Given the description of an element on the screen output the (x, y) to click on. 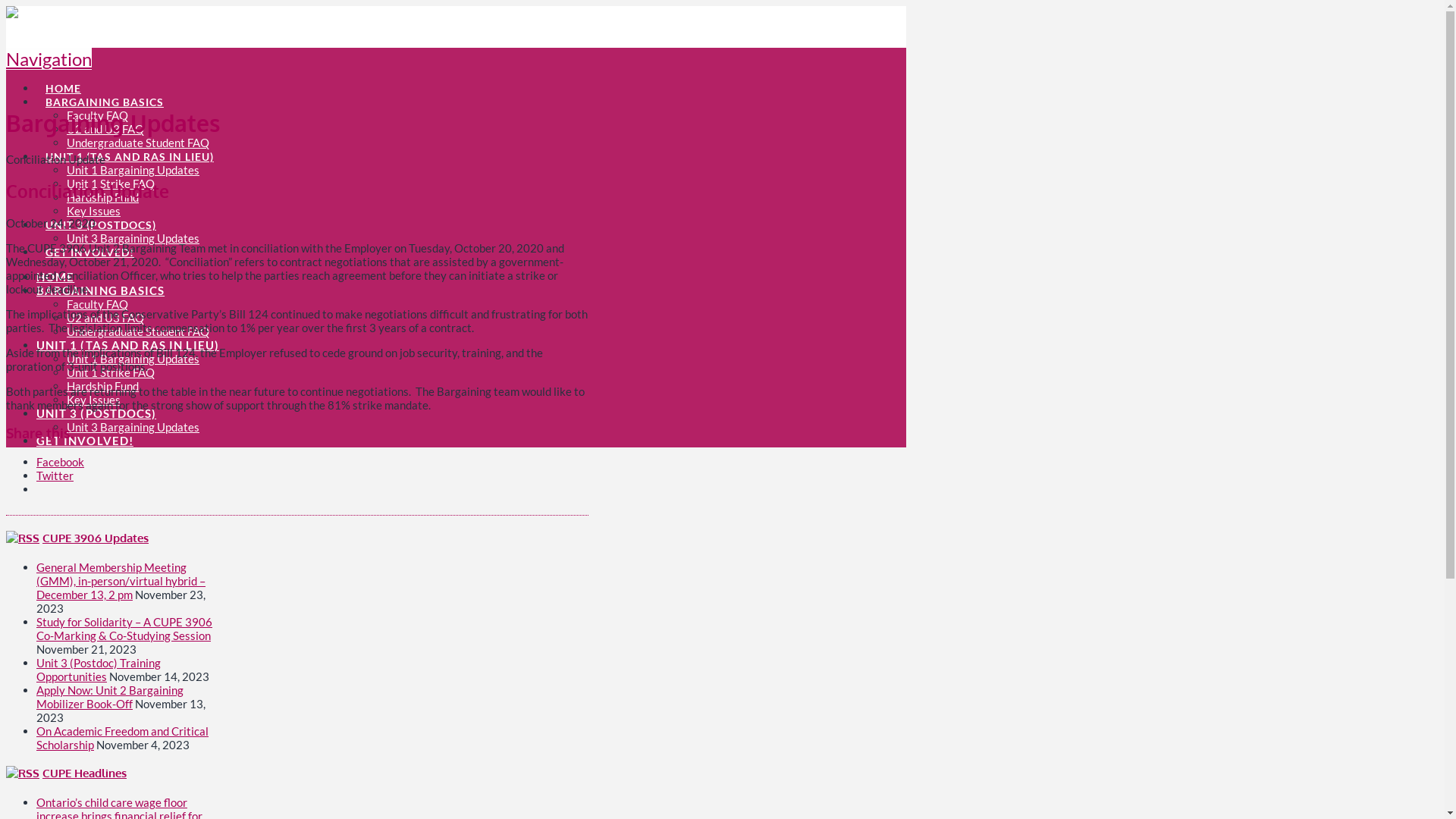
On Academic Freedom and Critical Scholarship Element type: text (122, 736)
Unit 1 Bargaining Updates Element type: text (132, 169)
CUPE 3906 Updates Element type: text (95, 537)
Twitter Element type: text (54, 475)
Key Issues Element type: text (93, 399)
Unit 1 Strike FAQ Element type: text (110, 183)
Faculty FAQ Element type: text (97, 115)
UNIT 1 (TAS AND RAS IN LIEU) Element type: text (127, 344)
Key Issues Element type: text (93, 210)
Bargaining Updates Element type: hover (191, 26)
U2 and U3 FAQ Element type: text (105, 317)
UNIT 3 (POSTDOCS) Element type: text (96, 413)
Navigation Element type: text (48, 58)
Apply Now: Unit 2 Bargaining Mobilizer Book-Off Element type: text (109, 695)
Unit 1 Strike FAQ Element type: text (110, 372)
Unit 3 (Postdoc) Training Opportunities Element type: text (98, 668)
UNIT 1 (TAS AND RAS IN LIEU) Element type: text (129, 147)
Unit 3 Bargaining Updates Element type: text (132, 426)
Undergraduate Student FAQ Element type: text (137, 142)
HOME Element type: text (55, 276)
Hardship Fund Element type: text (102, 196)
Unit 3 Bargaining Updates Element type: text (132, 237)
U2 and U3 FAQ Element type: text (105, 128)
UNIT 3 (POSTDOCS) Element type: text (100, 215)
Unit 1 Bargaining Updates Element type: text (132, 358)
HOME Element type: text (62, 79)
Undergraduate Student FAQ Element type: text (137, 331)
Faculty FAQ Element type: text (97, 303)
Facebook Element type: text (60, 461)
GET INVOLVED! Element type: text (84, 440)
GET INVOLVED! Element type: text (89, 243)
BARGAINING BASICS Element type: text (104, 93)
BARGAINING BASICS Element type: text (100, 290)
CUPE Headlines Element type: text (84, 772)
Hardship Fund Element type: text (102, 385)
